Given the description of an element on the screen output the (x, y) to click on. 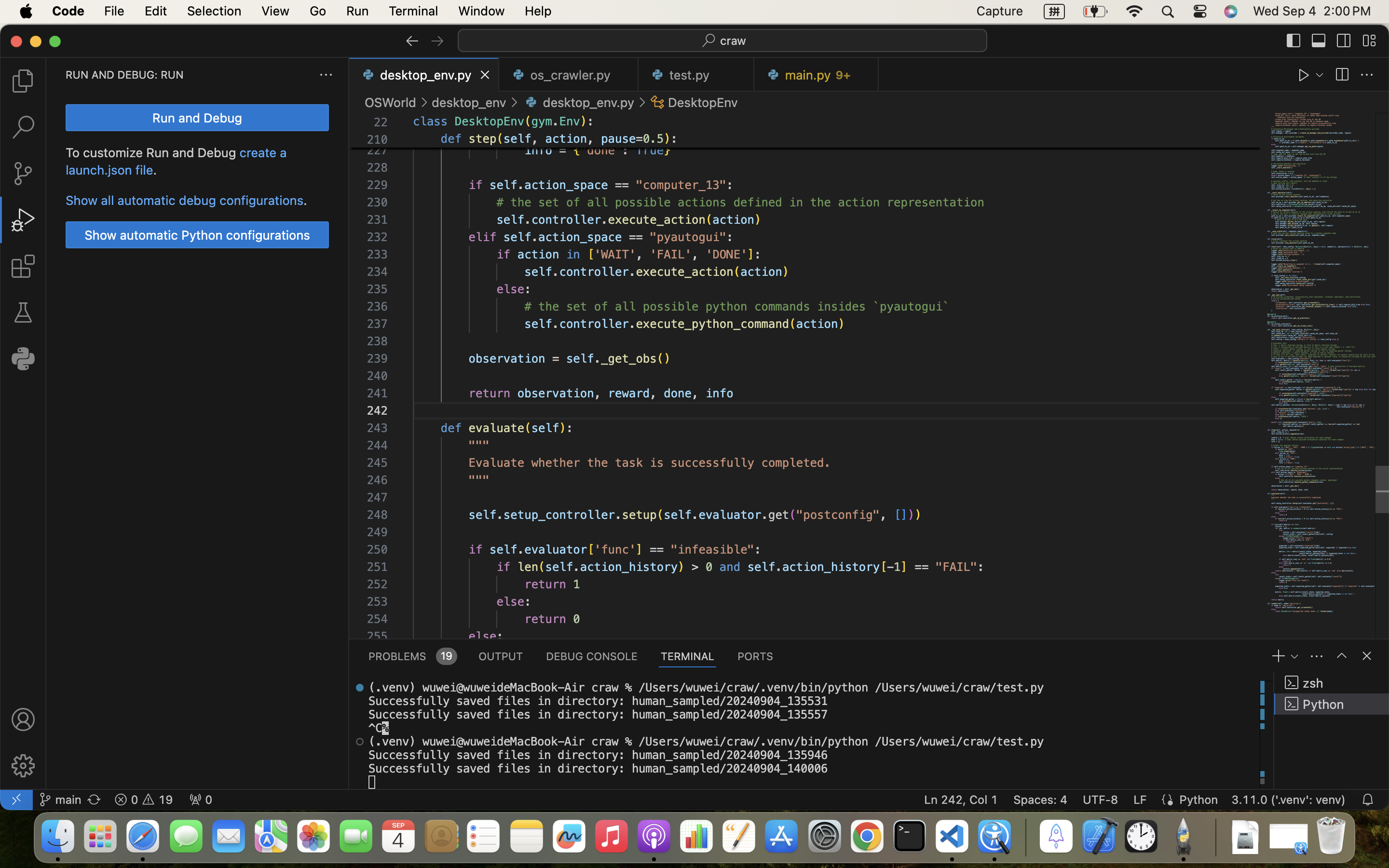
 Element type: AXCheckBox (1341, 655)
zsh  Element type: AXGroup (1331, 682)
Python  Element type: AXGroup (1331, 703)
 Element type: AXCheckBox (1318, 40)
210 Element type: AXStaticText (376, 139)
